Given the description of an element on the screen output the (x, y) to click on. 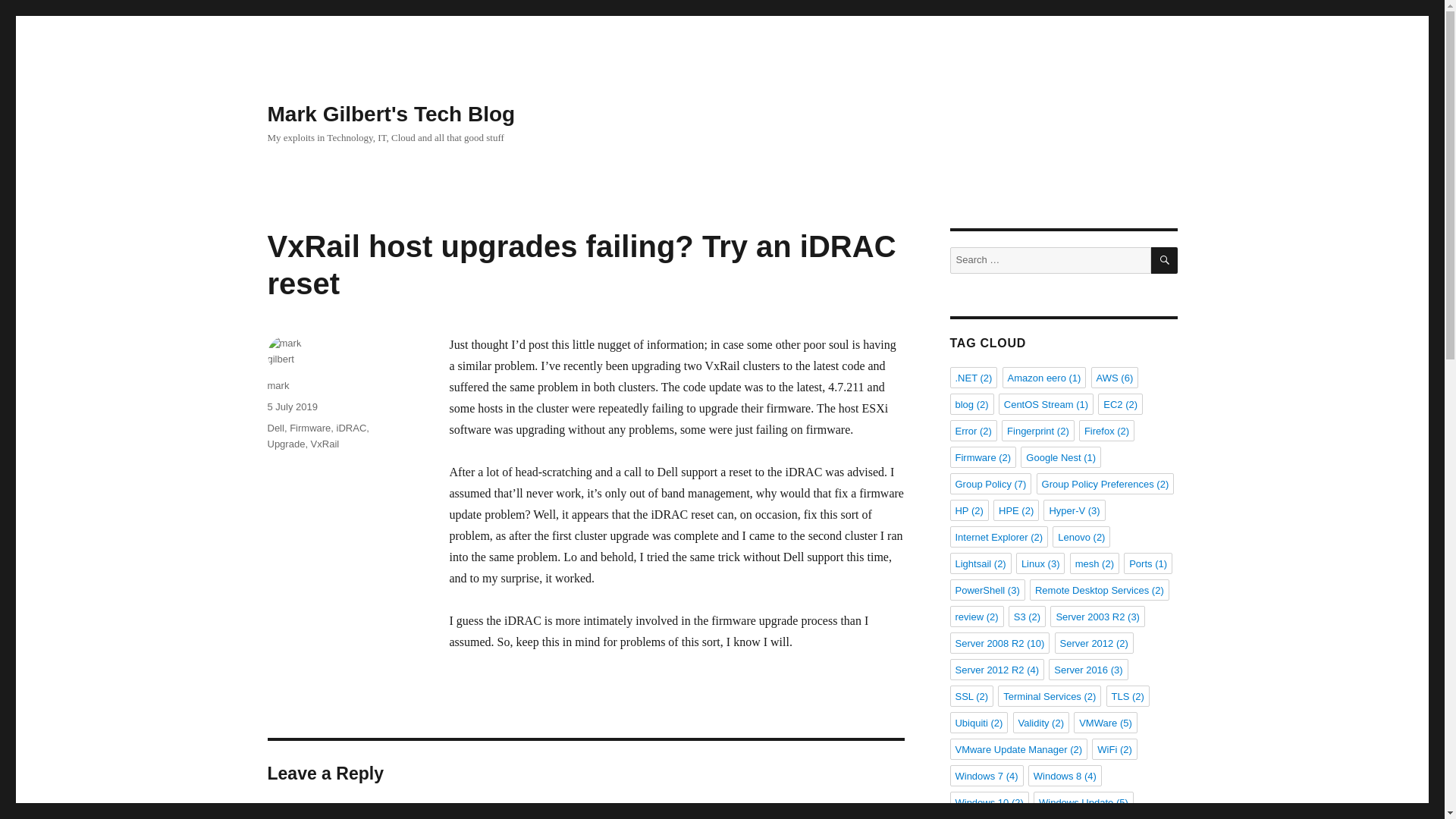
Mark Gilbert's Tech Blog (390, 114)
Upgrade (285, 443)
SEARCH (1164, 260)
5 July 2019 (291, 406)
Firmware (309, 428)
iDRAC (351, 428)
Dell (274, 428)
mark (277, 385)
VxRail (325, 443)
